Given the description of an element on the screen output the (x, y) to click on. 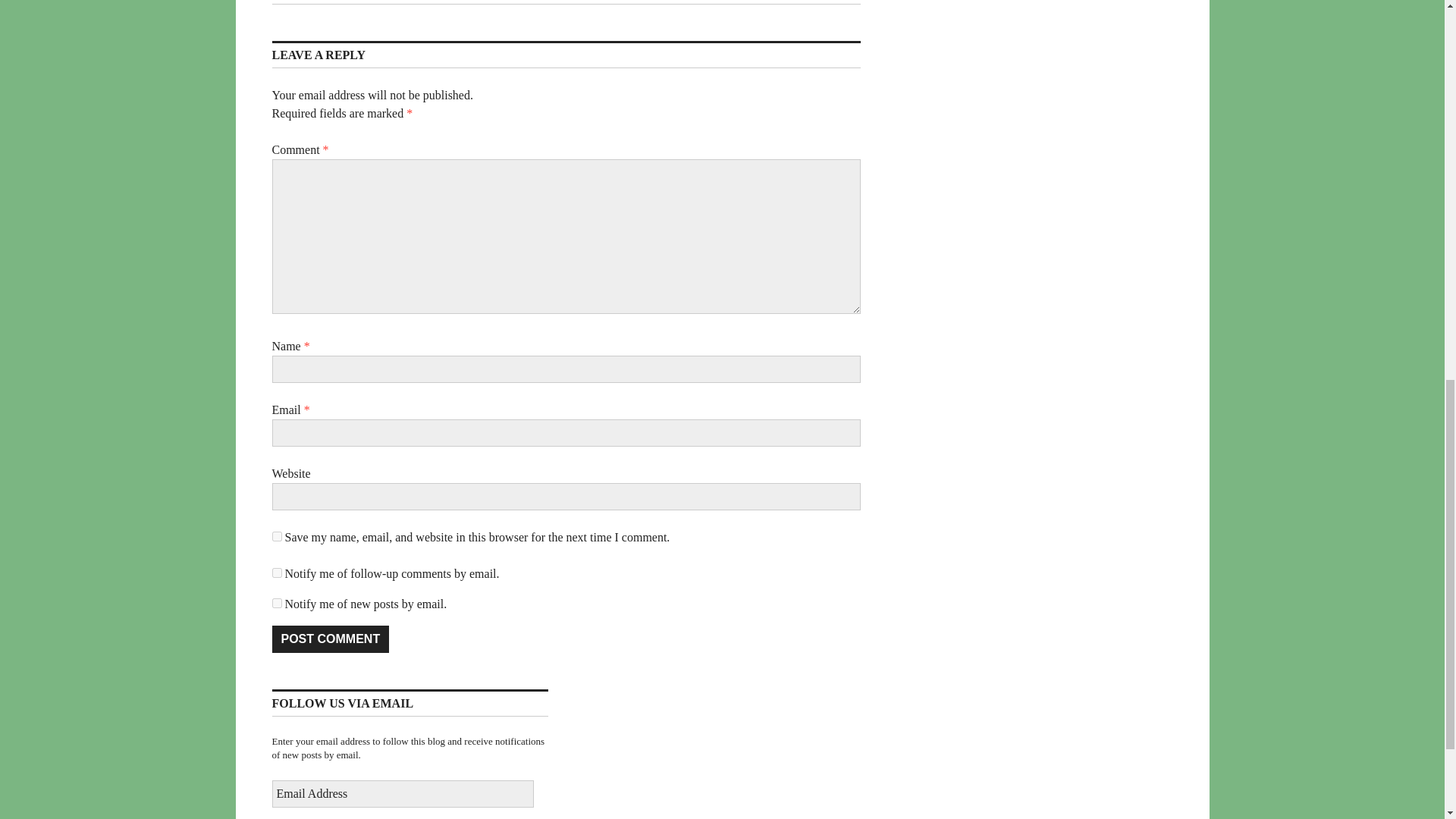
subscribe (275, 603)
Post Comment (329, 638)
subscribe (275, 573)
Post Comment (329, 638)
